Given the description of an element on the screen output the (x, y) to click on. 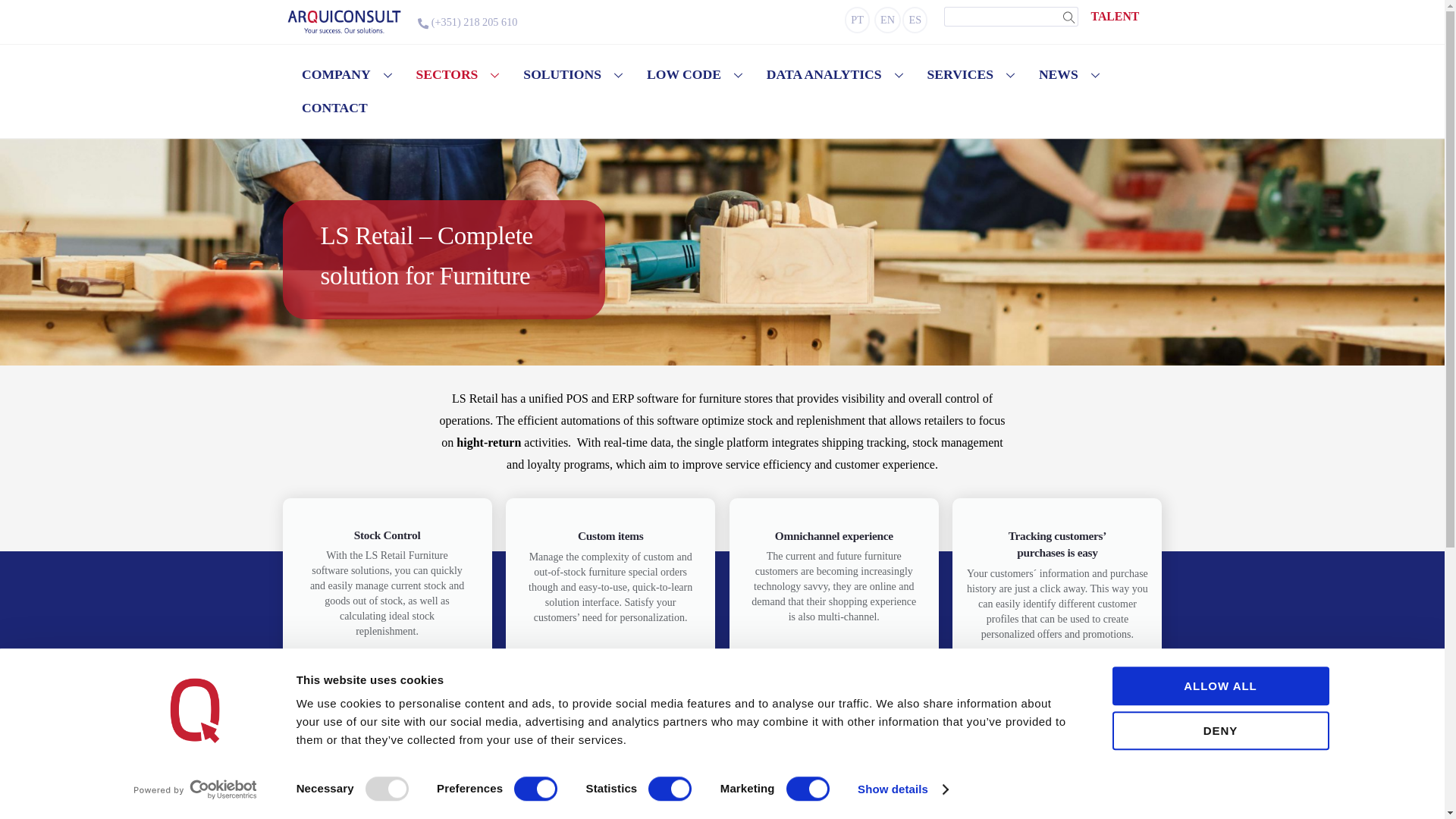
ES (914, 19)
DENY (1219, 730)
Show details (902, 789)
EN (888, 19)
ALLOW ALL (1219, 685)
PT (856, 19)
logo-arquiconsult-2 (343, 22)
